Given the description of an element on the screen output the (x, y) to click on. 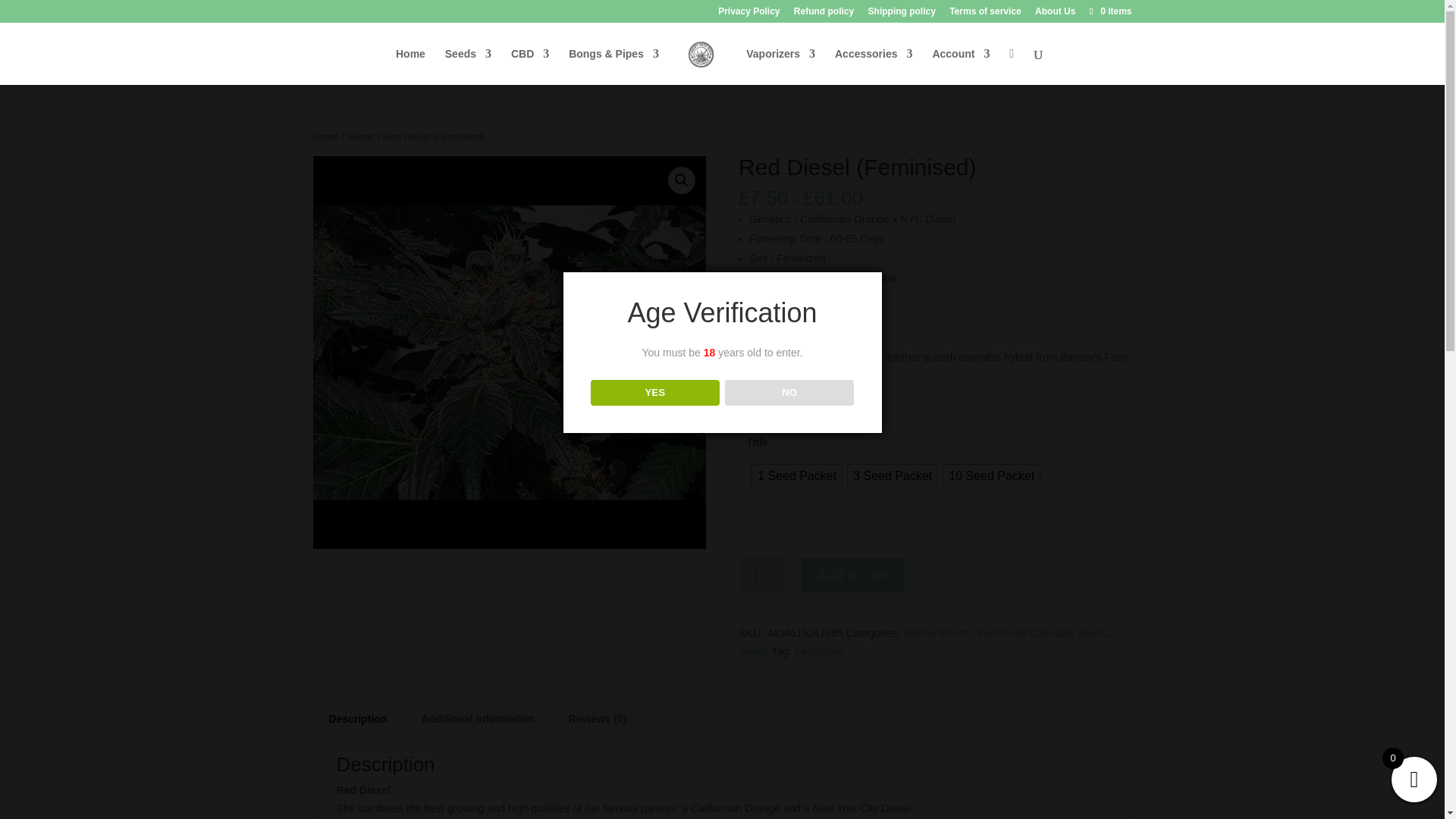
3 Seed Packet (892, 476)
Accessories (873, 66)
Seeds (468, 66)
1 (761, 577)
Refund policy (823, 14)
0 Items (1108, 10)
Vaporizers (780, 66)
Shipping policy (901, 14)
CBD (529, 66)
1 Seed Packet (796, 476)
Privacy Policy (747, 14)
Terms of service (985, 14)
10 Seed Packet (991, 476)
About Us (1055, 14)
